Given the description of an element on the screen output the (x, y) to click on. 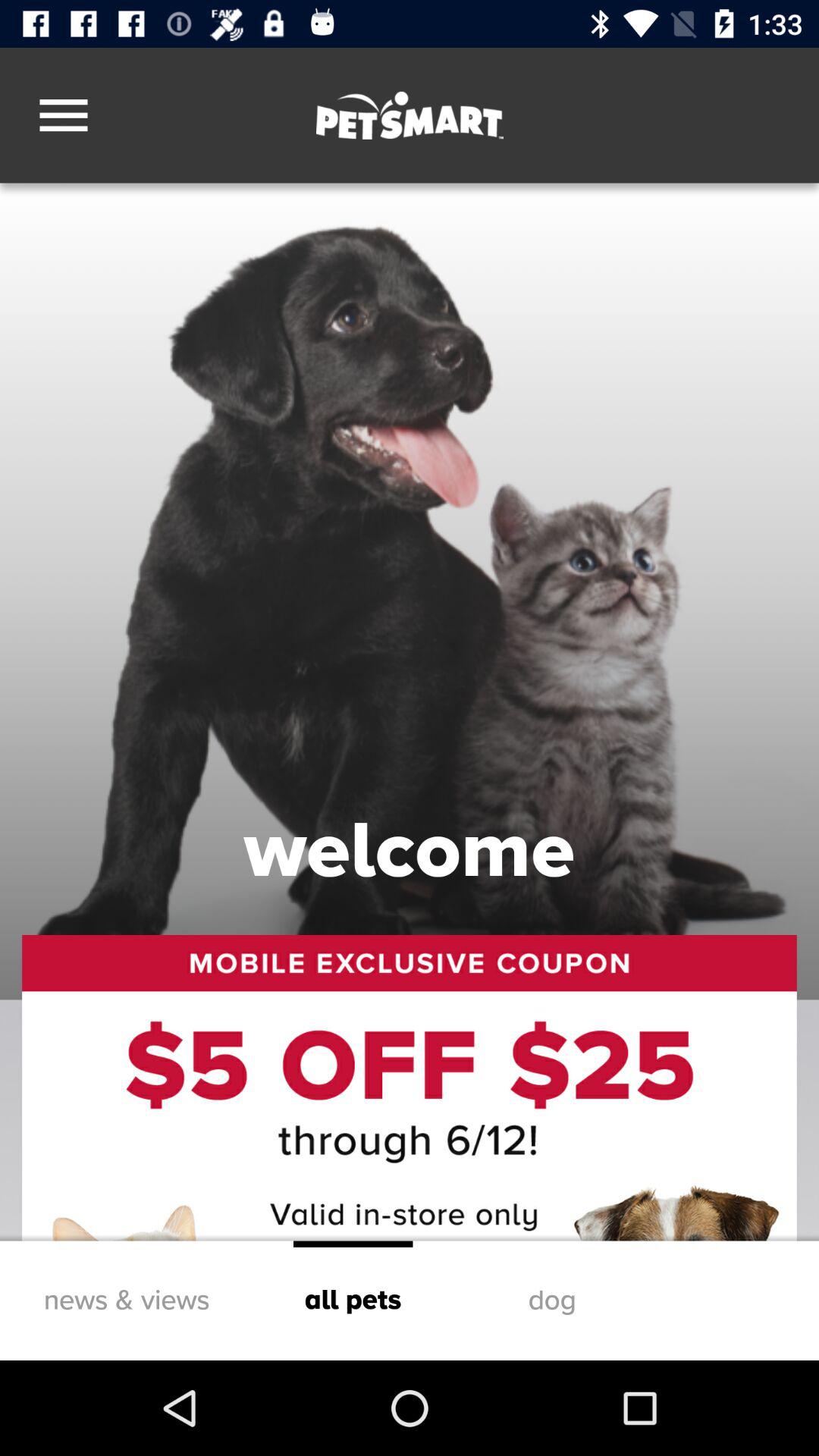
swipe until the all pets (352, 1300)
